Given the description of an element on the screen output the (x, y) to click on. 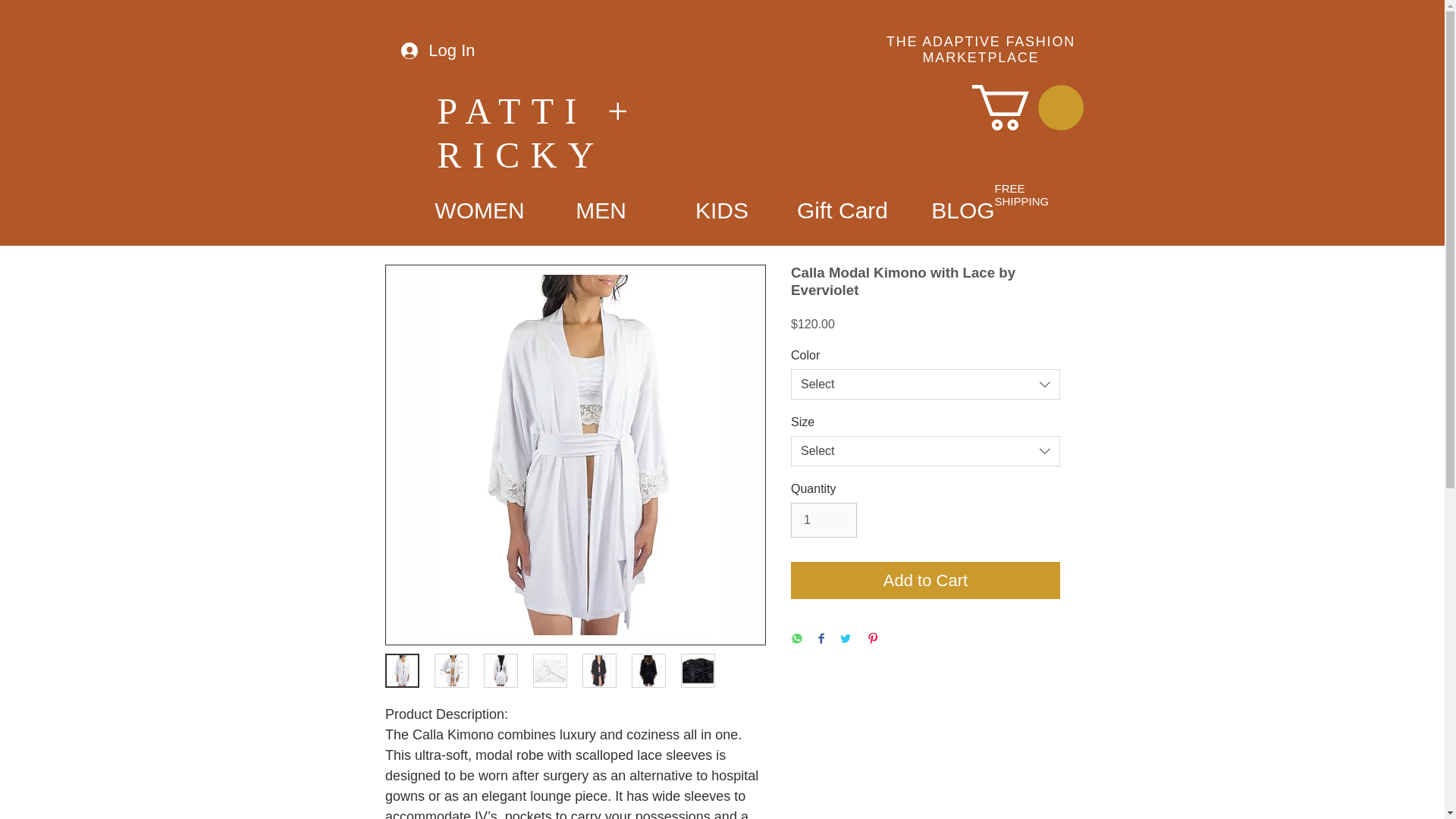
MEN (600, 210)
WOMEN (479, 210)
1 (823, 519)
KIDS (721, 210)
Log In (437, 51)
Gift Card (842, 210)
BLOG (962, 210)
